Given the description of an element on the screen output the (x, y) to click on. 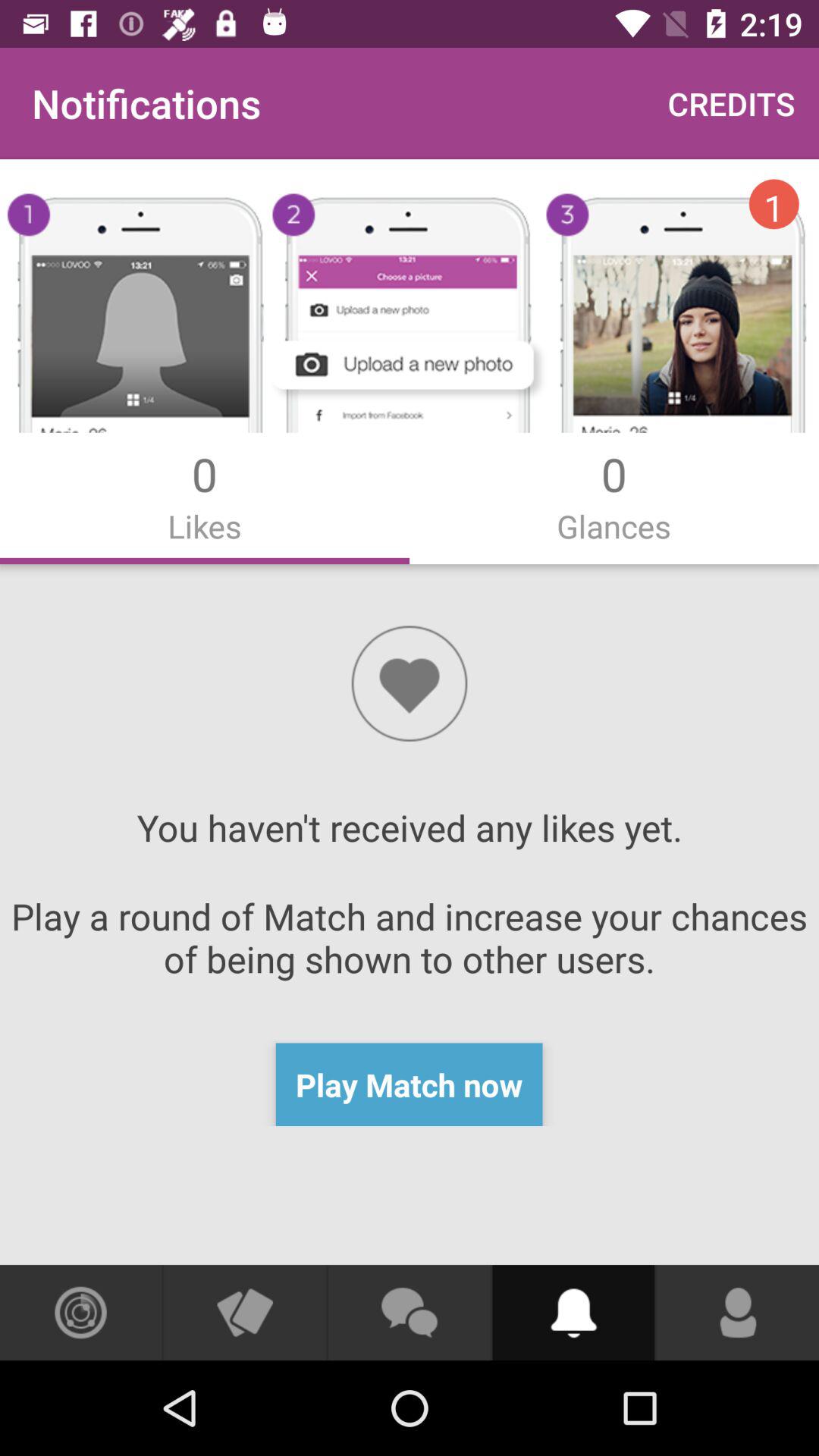
flip until the credits item (731, 103)
